Given the description of an element on the screen output the (x, y) to click on. 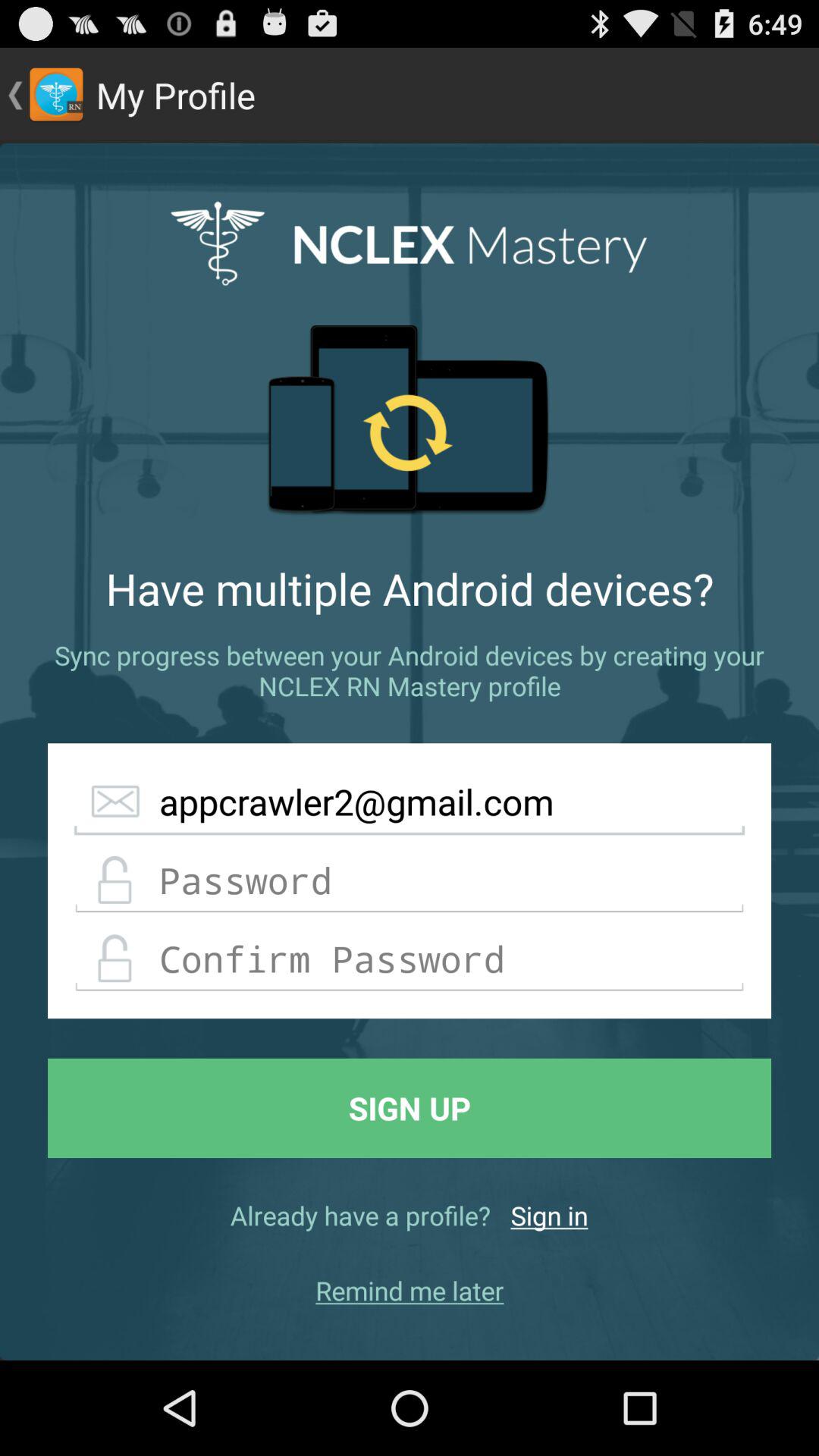
box to enter password (409, 880)
